Given the description of an element on the screen output the (x, y) to click on. 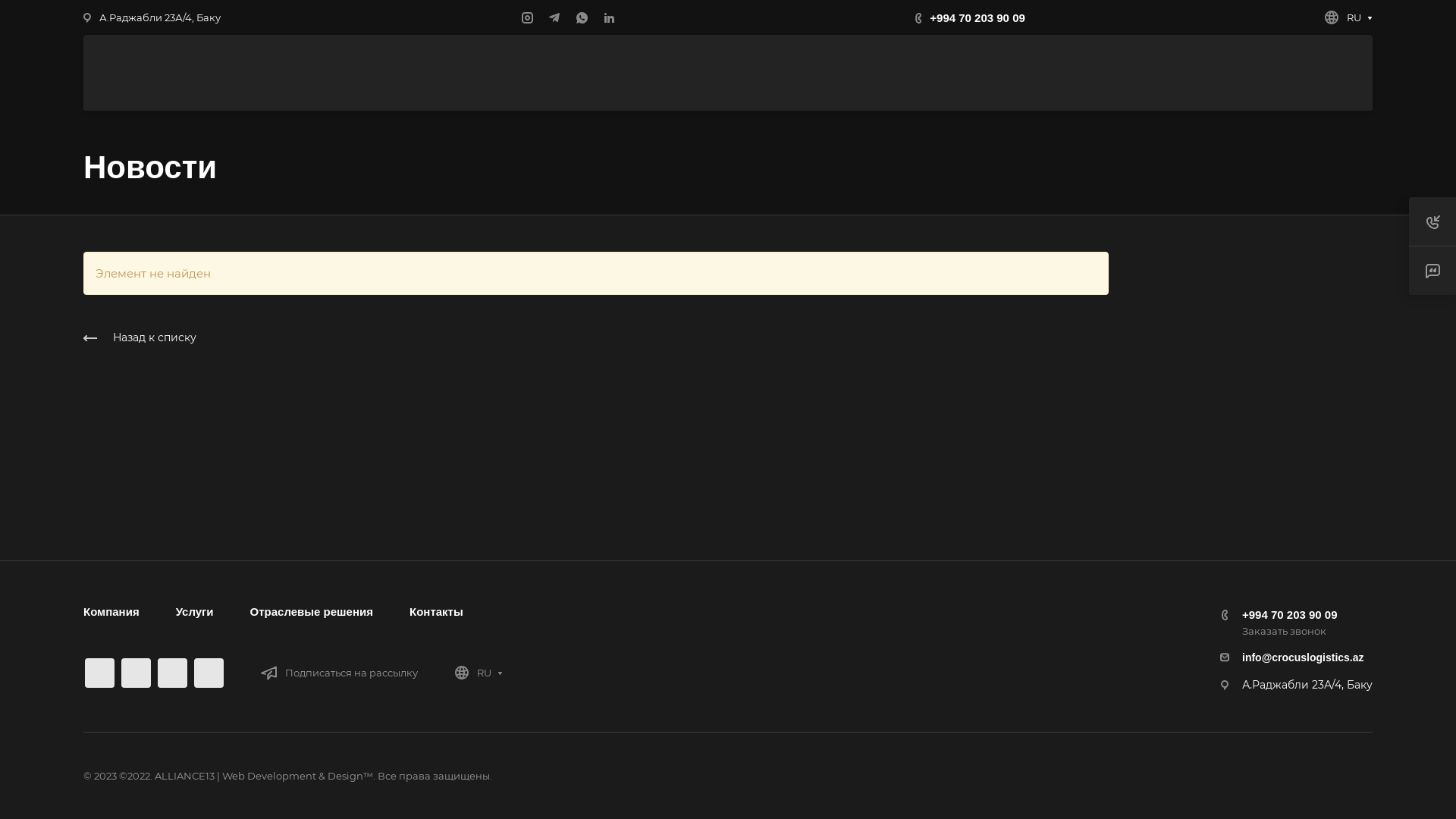
Telegram Element type: hover (135, 672)
Instagram Element type: hover (526, 17)
Instagram Element type: hover (99, 672)
Whats App Element type: hover (581, 17)
info@crocuslogistics.az Element type: text (1303, 657)
Telegram Element type: hover (553, 17)
LinkedIn Element type: hover (608, 17)
Whats App Element type: hover (172, 672)
LinkedIn Element type: hover (208, 672)
+994 70 203 90 09 Element type: text (1289, 614)
+994 70 203 90 09 Element type: text (977, 16)
